Given the description of an element on the screen output the (x, y) to click on. 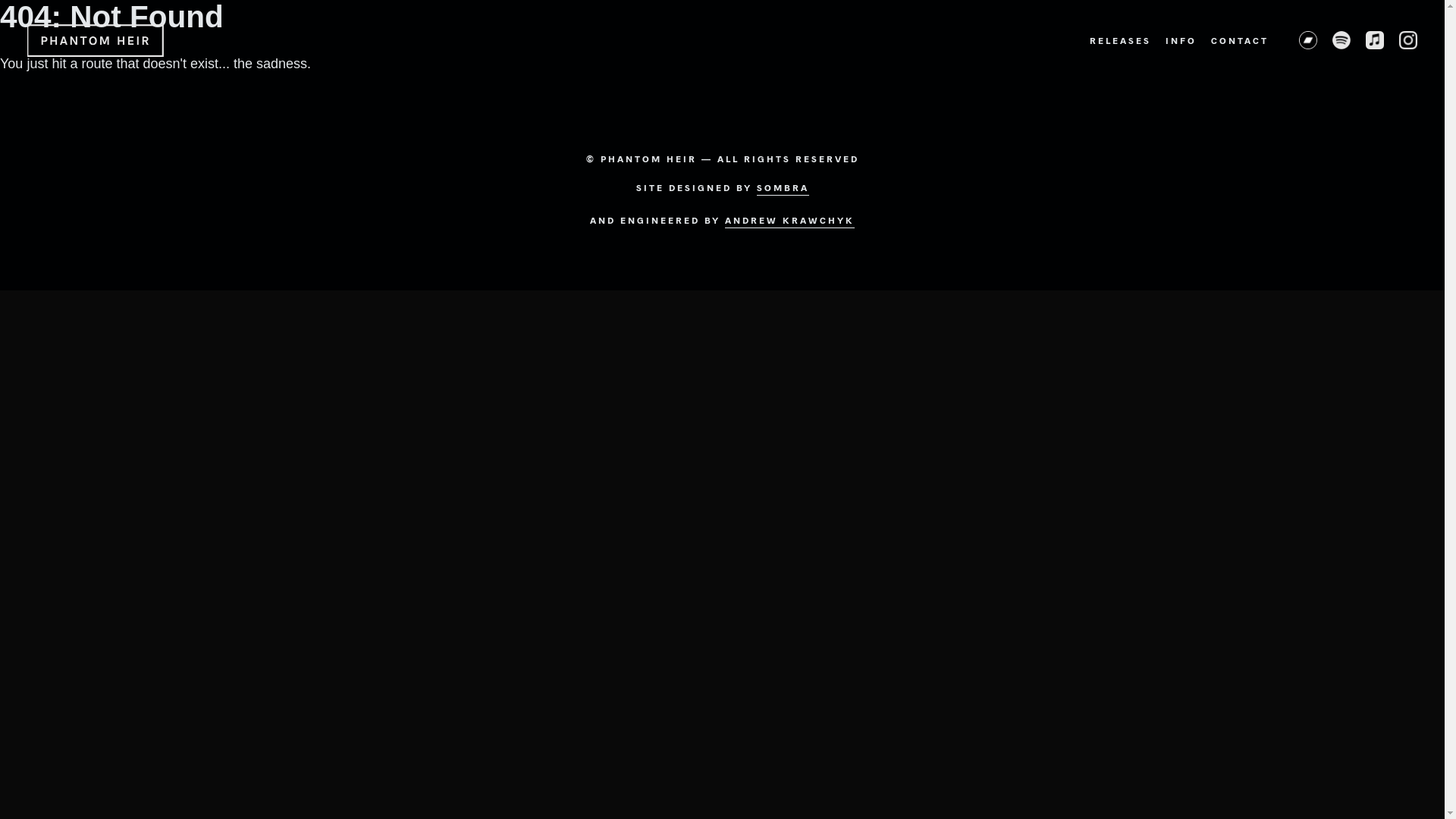
Home Element type: text (95, 40)
RELEASES Element type: text (1120, 40)
SOMBRA Element type: text (782, 188)
CONTACT Element type: text (1239, 40)
INFO Element type: text (1180, 40)
ANDREW KRAWCHYK Element type: text (789, 221)
